Given the description of an element on the screen output the (x, y) to click on. 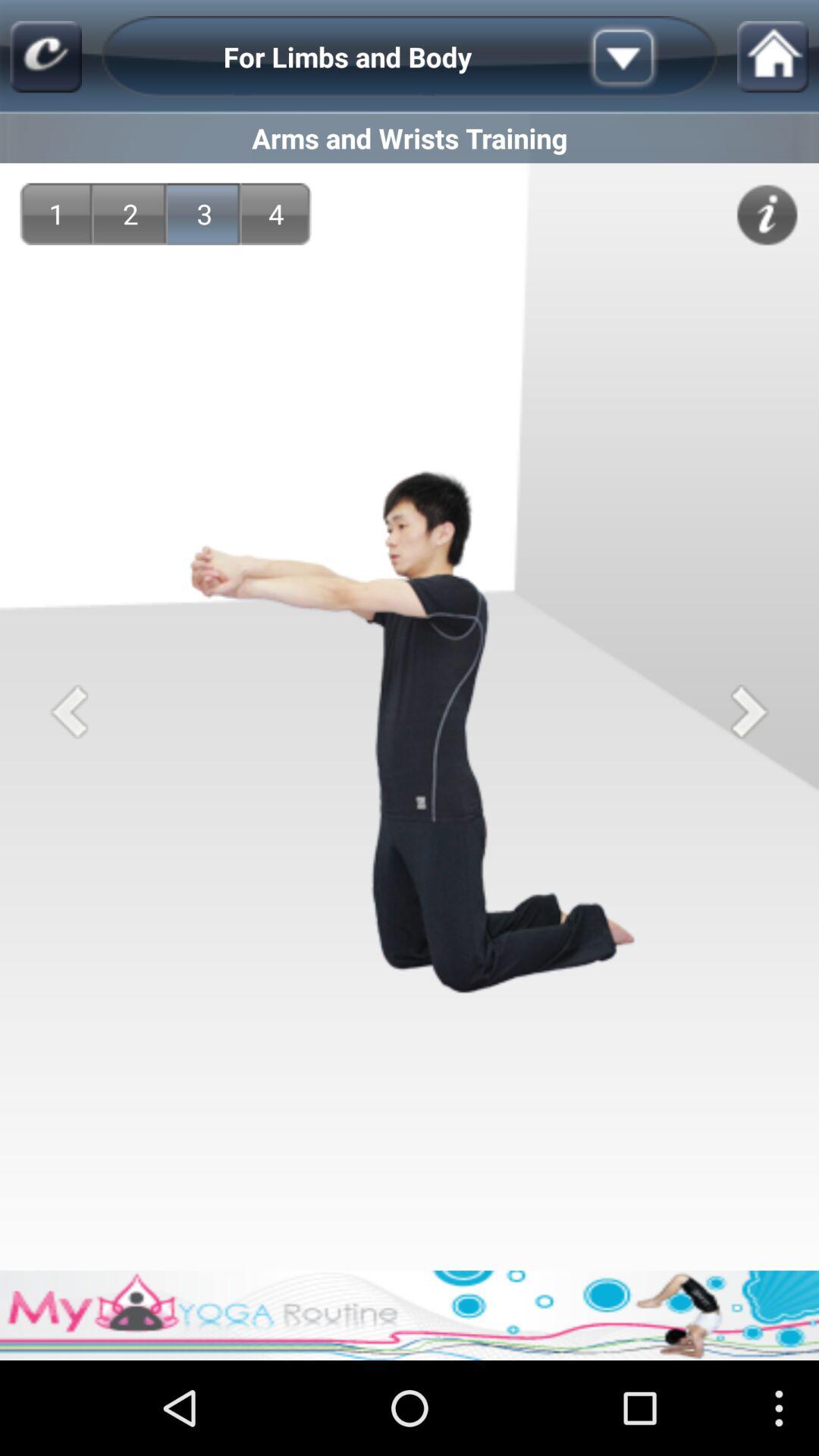
get more information (767, 214)
